Given the description of an element on the screen output the (x, y) to click on. 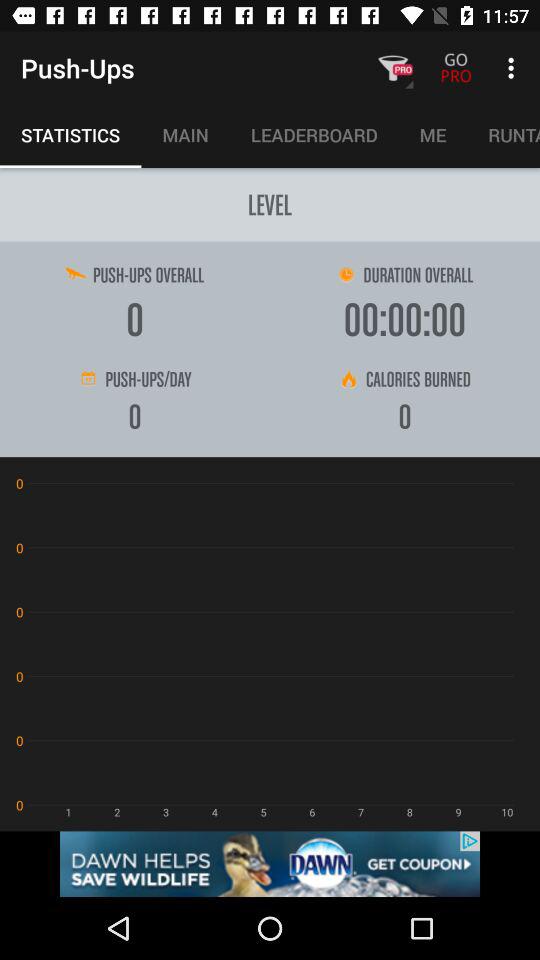
get coupon (270, 864)
